Given the description of an element on the screen output the (x, y) to click on. 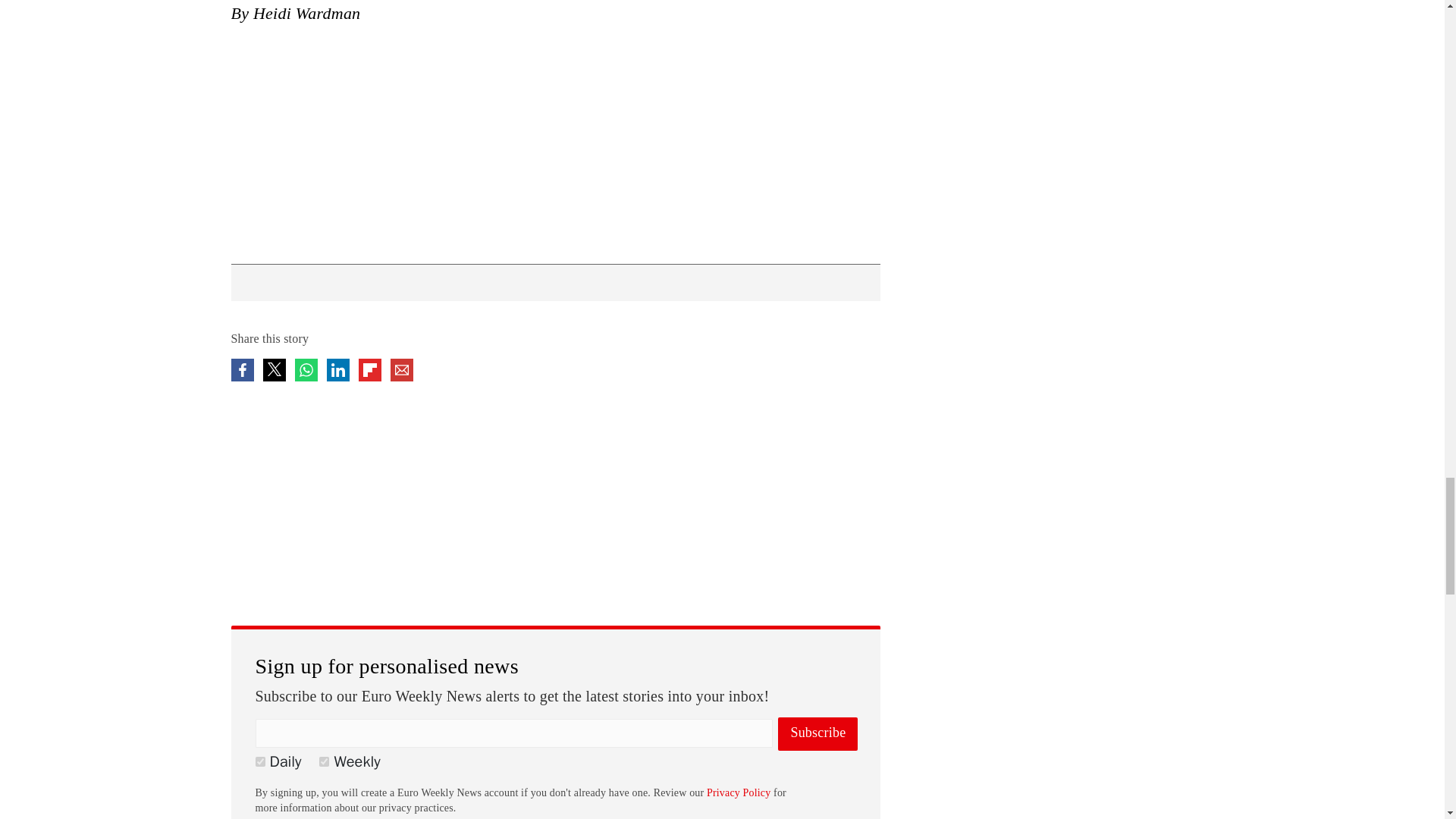
7 (323, 761)
Subscribe (817, 734)
6 (259, 761)
